Given the description of an element on the screen output the (x, y) to click on. 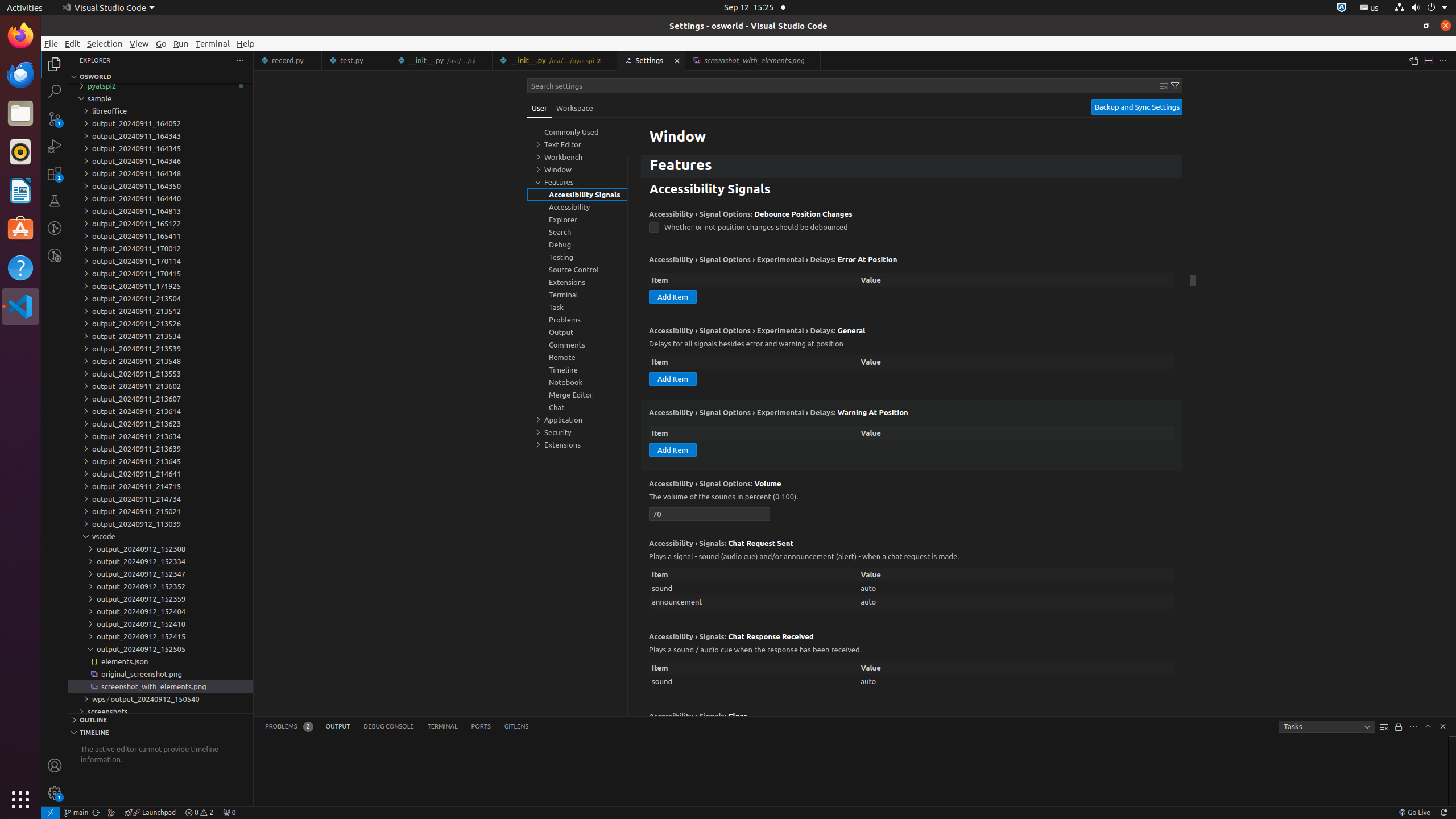
output_20240911_213602 Element type: tree-item (160, 385)
output_20240911_213548 Element type: tree-item (160, 360)
Accessibility Signals, group Element type: tree-item (577, 194)
output_20240911_164343 Element type: tree-item (160, 135)
output_20240912_152404 Element type: tree-item (160, 611)
